Given the description of an element on the screen output the (x, y) to click on. 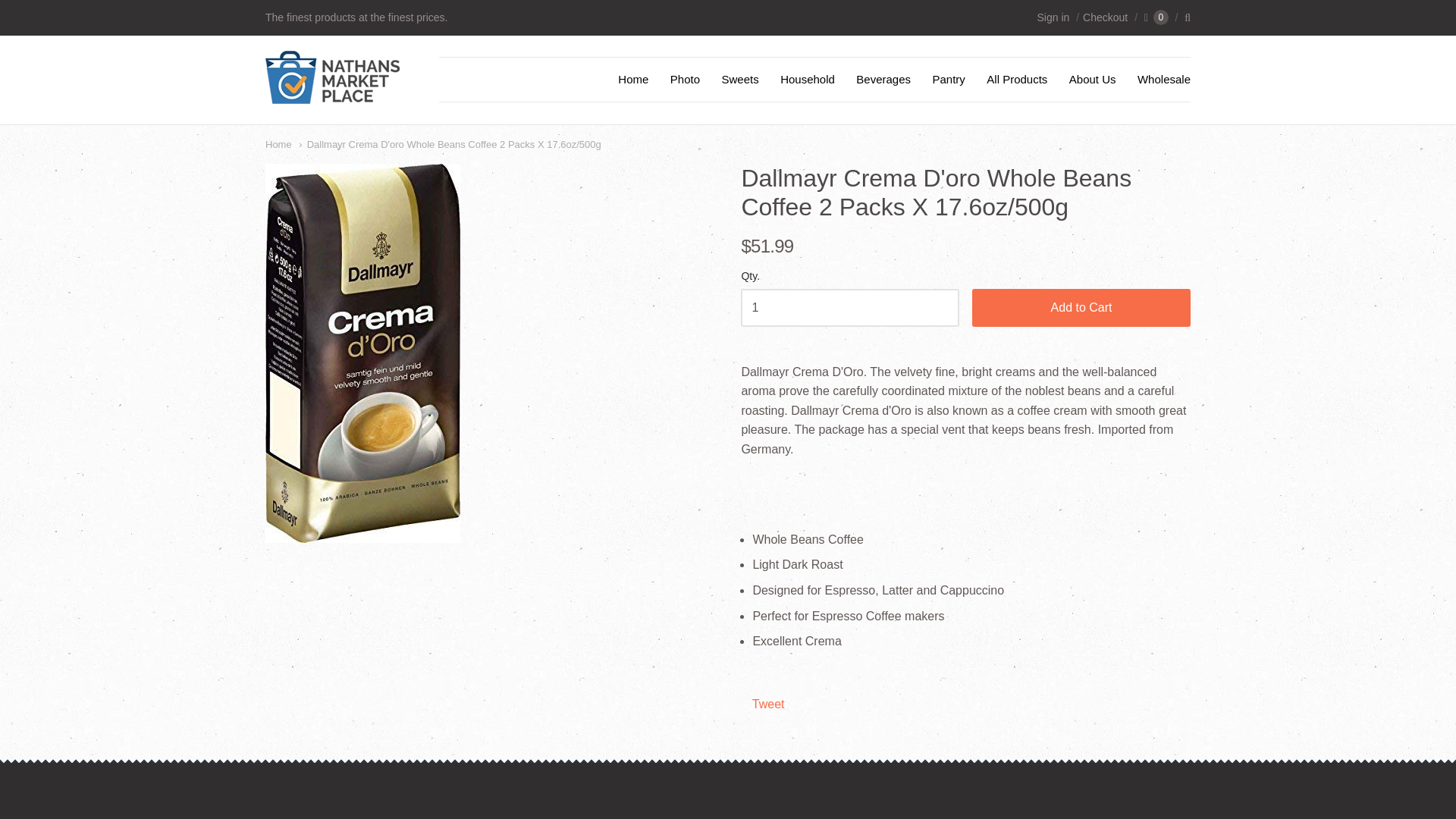
Home (278, 143)
0 (1156, 17)
About Us (1092, 79)
Add to Cart (1081, 307)
Household (807, 79)
Pantry (948, 79)
Nathans Market Place (331, 95)
Wholesale (1163, 79)
All Products (1016, 79)
Home (278, 143)
